Given the description of an element on the screen output the (x, y) to click on. 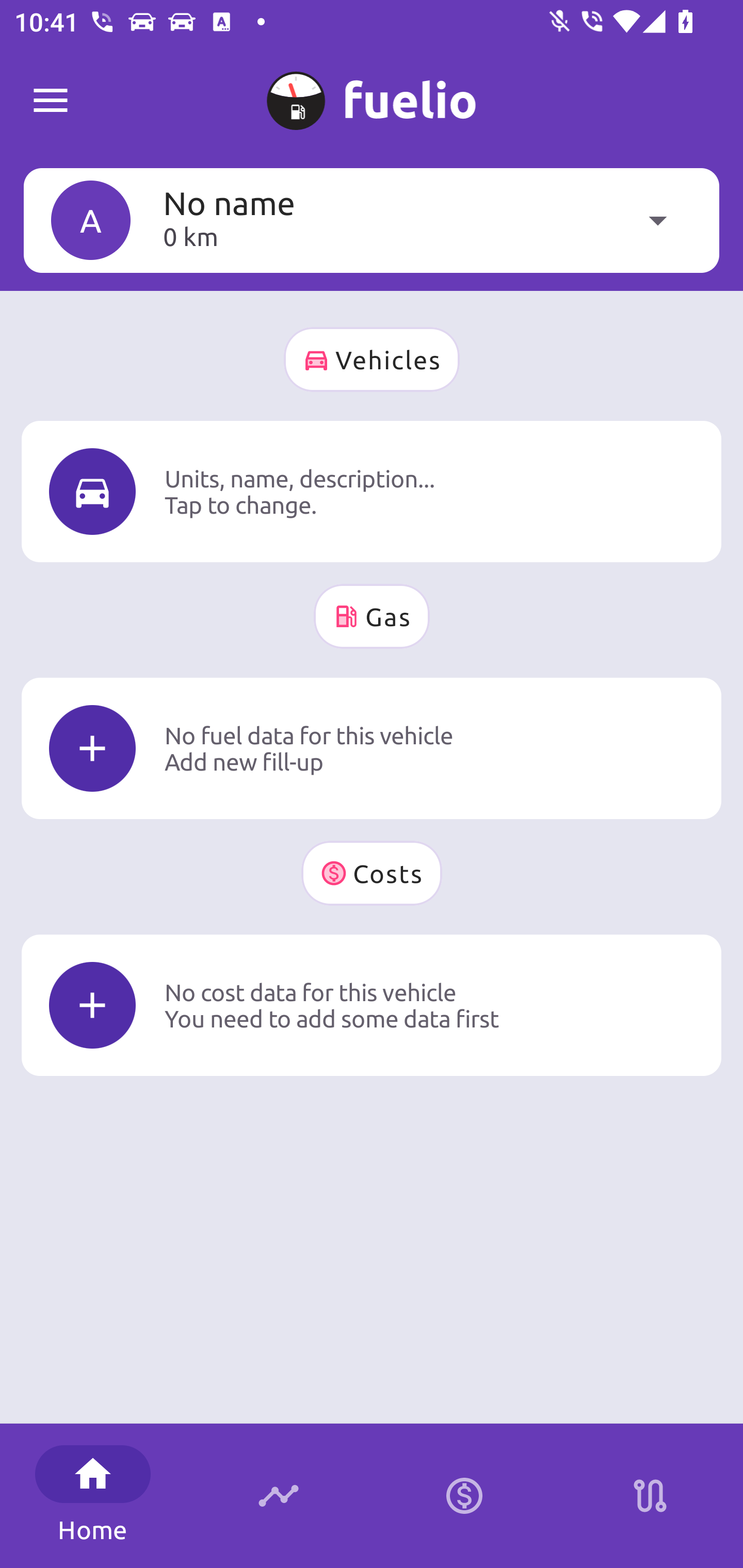
Fuelio (50, 101)
A No name 0 km (371, 219)
Vehicles (371, 359)
Icon Units, name, description...
Tap to change. (371, 491)
Icon (92, 491)
Gas (371, 616)
Icon No fuel data for this vehicle
Add new fill-up (371, 747)
Icon (92, 748)
Costs (371, 873)
Icon (92, 1004)
Timeline (278, 1495)
Calculator (464, 1495)
Stations on route (650, 1495)
